Given the description of an element on the screen output the (x, y) to click on. 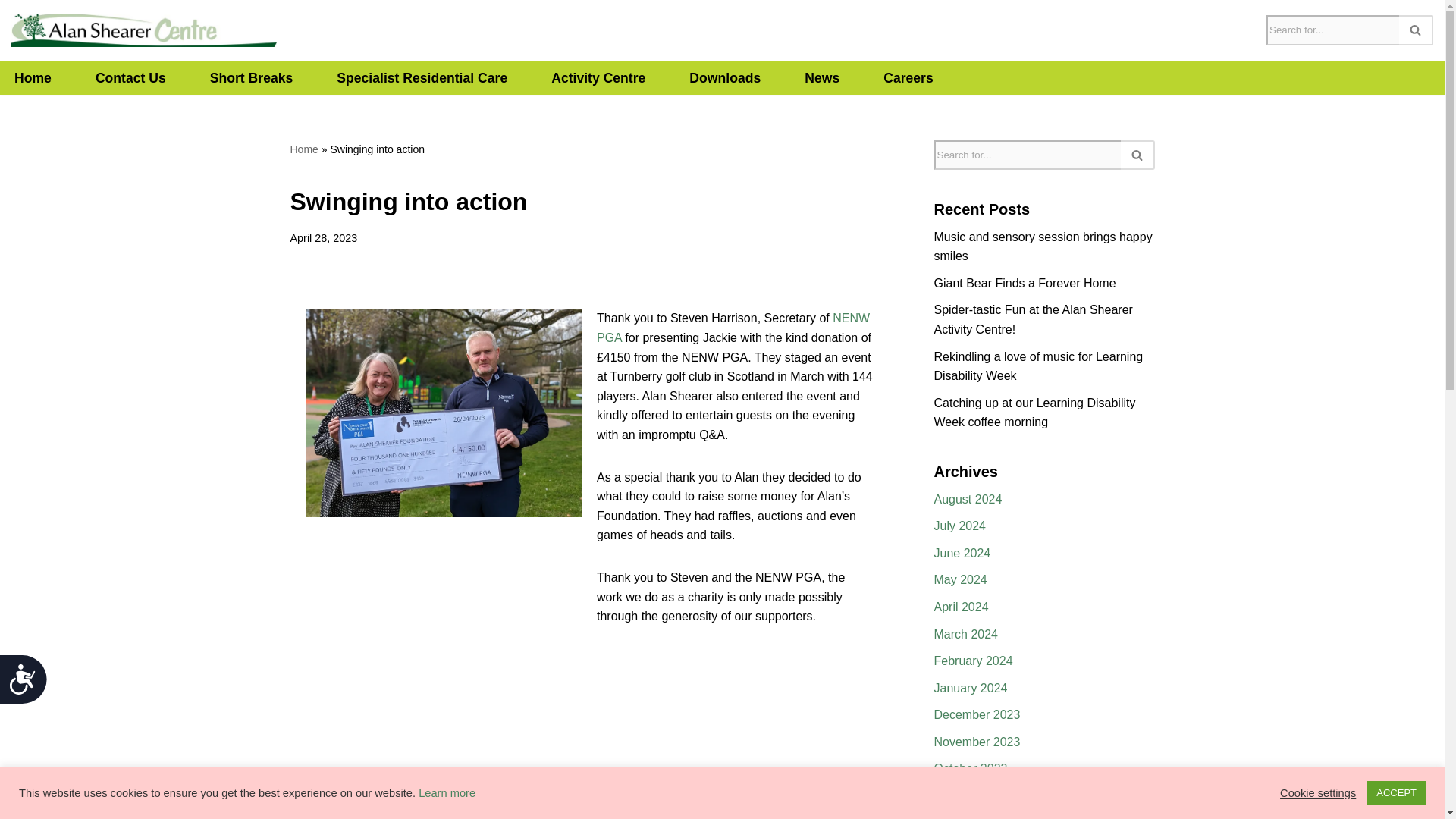
NENW PGA (732, 327)
June 2024 (962, 553)
Catching up at our Learning Disability Week coffee morning (1034, 412)
August 2024 (968, 499)
Giant Bear Finds a Forever Home (1025, 282)
May 2024 (960, 579)
Home (303, 149)
Activity Centre (598, 77)
Contact Us (130, 77)
Spider-tastic Fun at the Alan Shearer Activity Centre! (1033, 319)
